Given the description of an element on the screen output the (x, y) to click on. 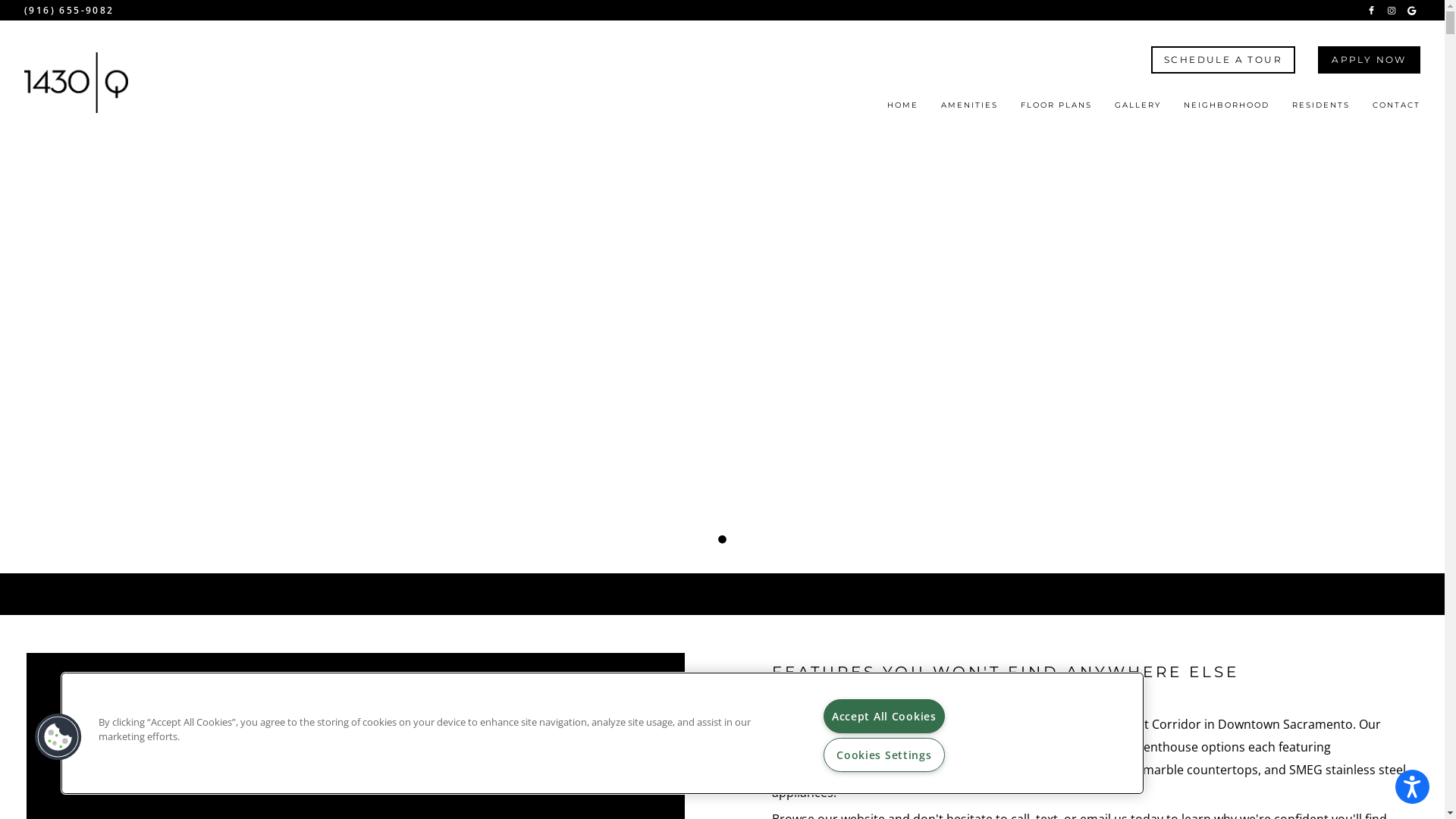
NEIGHBORHOOD Element type: text (1226, 109)
Cookies Settings Element type: text (883, 754)
RESIDENTS Element type: text (1320, 109)
SCHEDULE A TOUR Element type: text (1223, 58)
AMENITIES Element type: text (969, 109)
HOME Element type: text (902, 109)
GALLERY Element type: text (1137, 109)
Cookies Button Element type: text (58, 736)
FLOOR PLANS Element type: text (1056, 109)
APPLY NOW Element type: text (1368, 58)
Home Element type: hover (76, 82)
(916) 655-9082 Element type: text (69, 9)
Accept All Cookies Element type: text (883, 716)
CONTACT Element type: text (1396, 109)
